Given the description of an element on the screen output the (x, y) to click on. 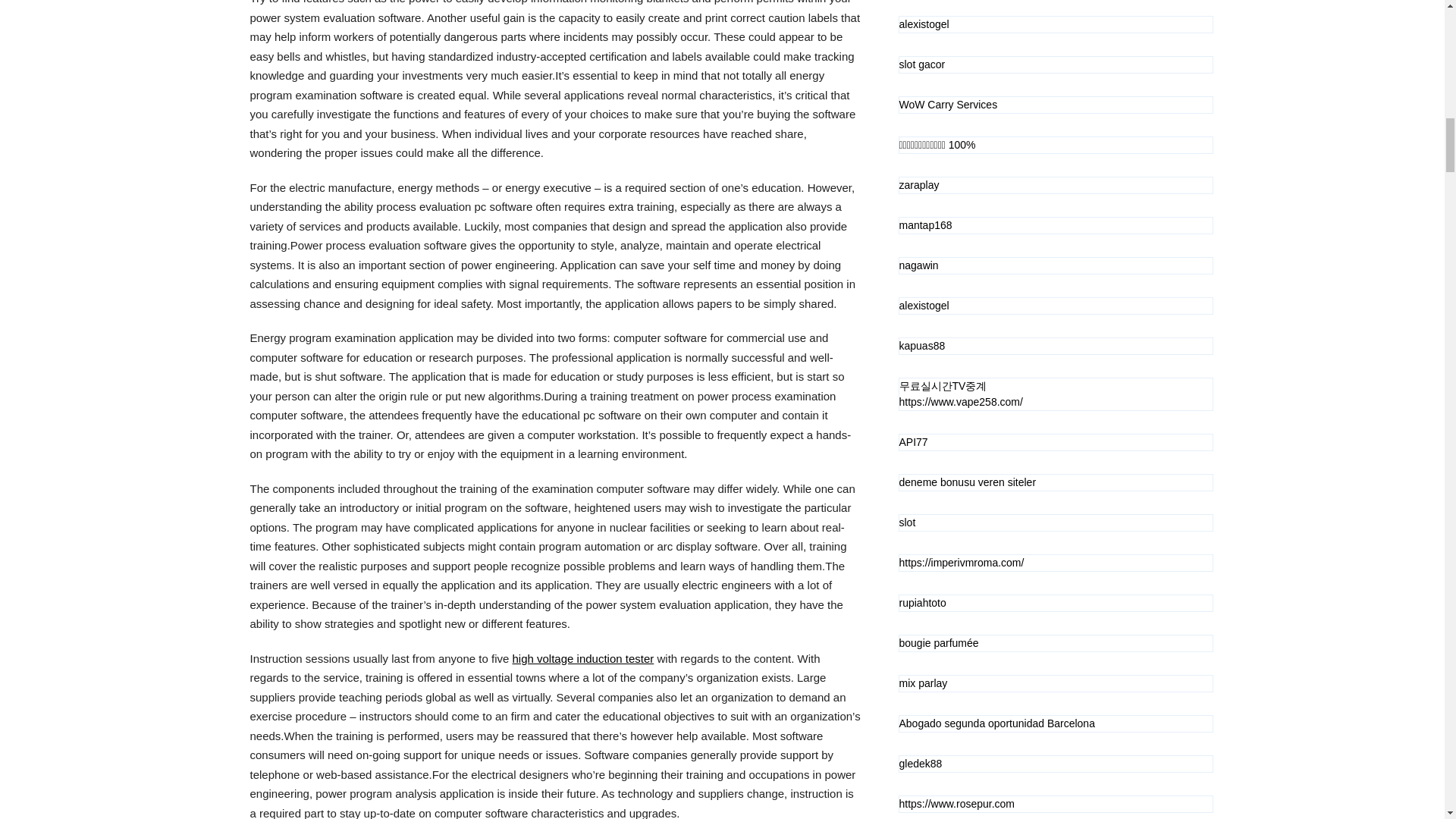
high voltage induction tester (582, 658)
